Given the description of an element on the screen output the (x, y) to click on. 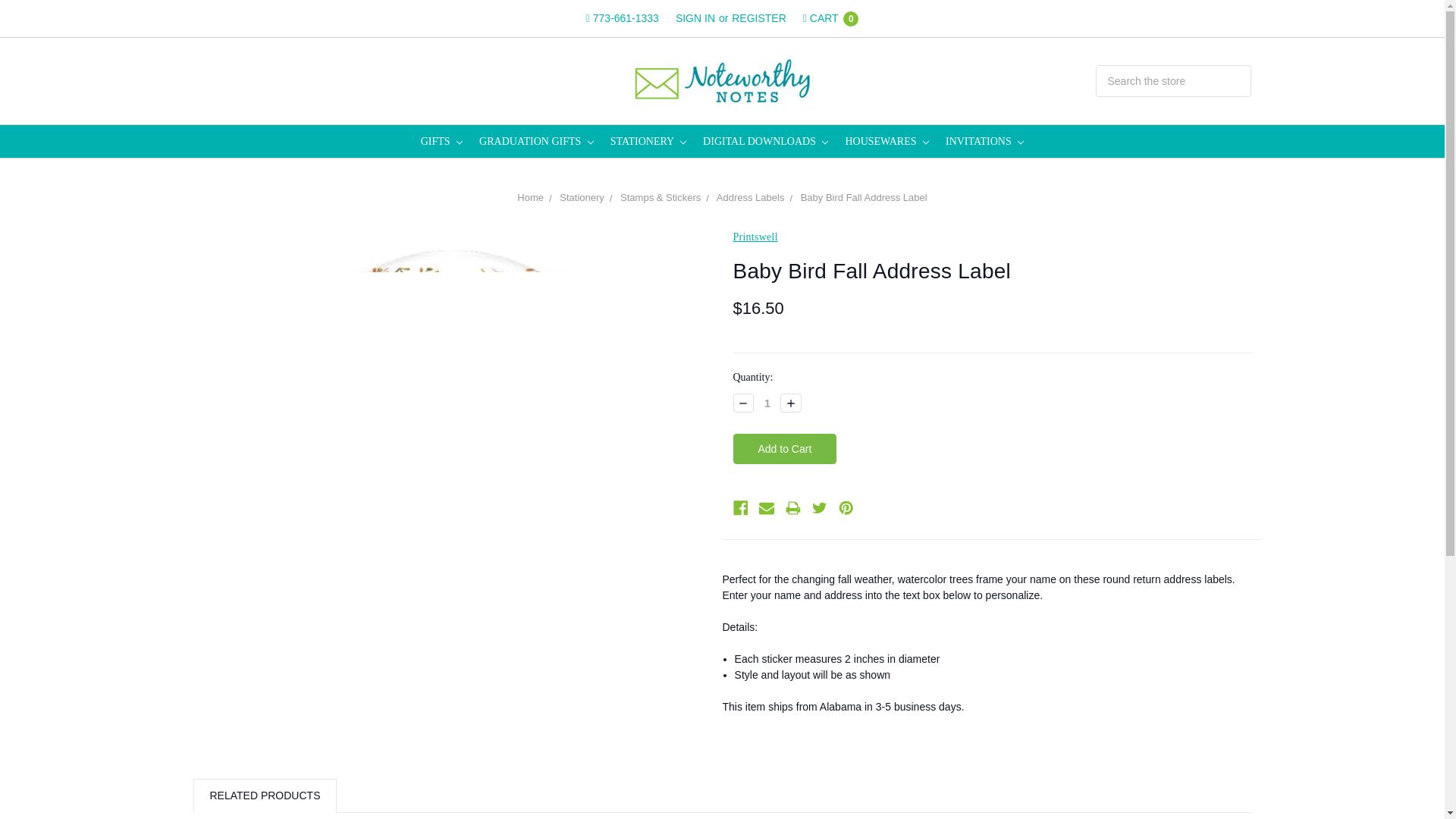
GRADUATION GIFTS (536, 141)
Add to Cart (783, 449)
GIFTS (441, 141)
1 (767, 402)
773-661-1333 (622, 18)
NoteworthyNotes (721, 81)
CART 0 (830, 18)
REGISTER (758, 18)
SIGN IN (694, 18)
